Given the description of an element on the screen output the (x, y) to click on. 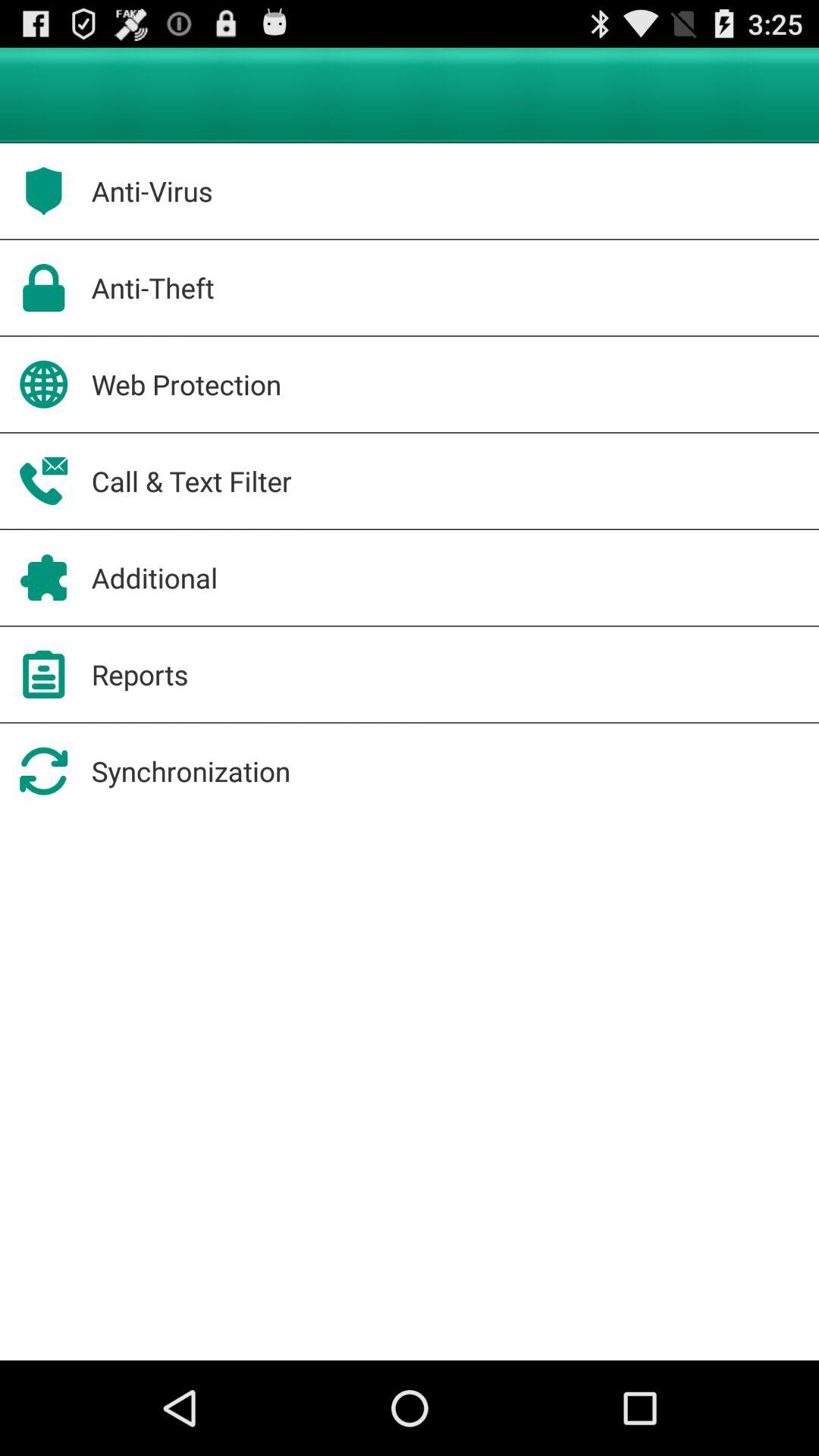
jump until web protection (186, 384)
